Given the description of an element on the screen output the (x, y) to click on. 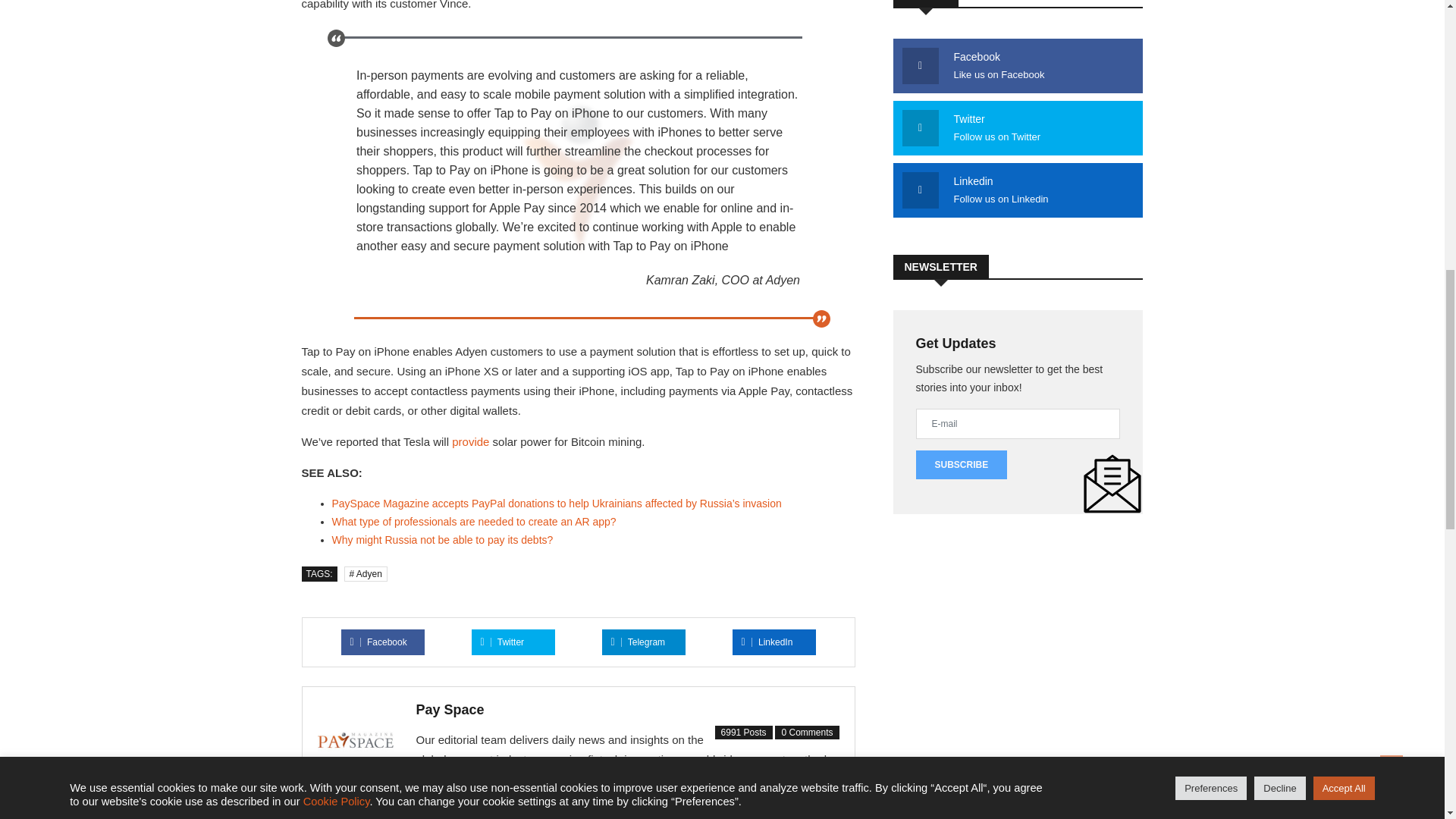
LinkedIn (767, 642)
Facebook (378, 642)
Why might Russia not be able to pay its debts? (442, 539)
Telegram (638, 642)
What type of professionals are needed to create an AR app? (473, 521)
provide (470, 440)
Twitter (502, 642)
